Given the description of an element on the screen output the (x, y) to click on. 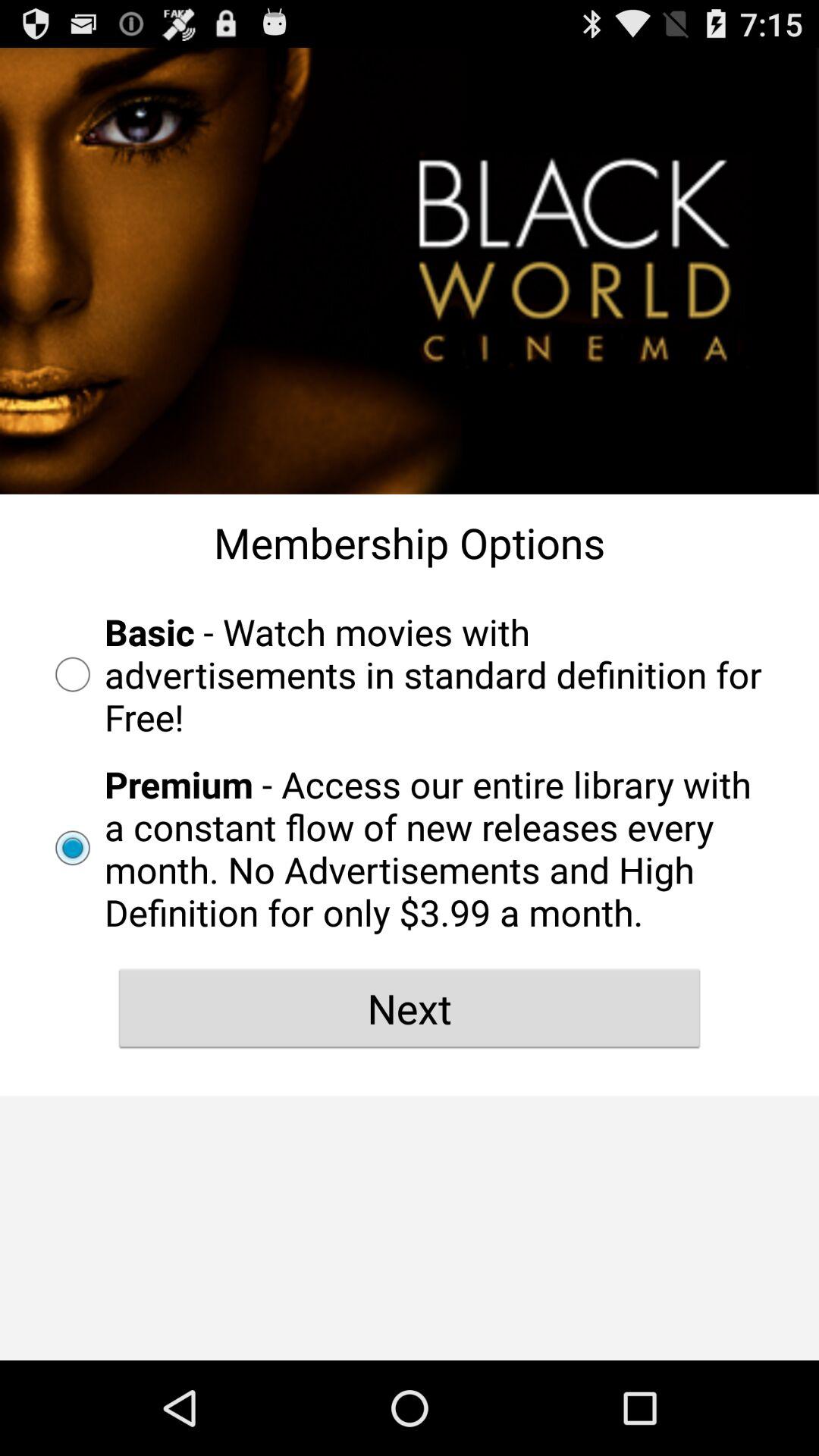
turn off item below premium access our item (409, 1008)
